Given the description of an element on the screen output the (x, y) to click on. 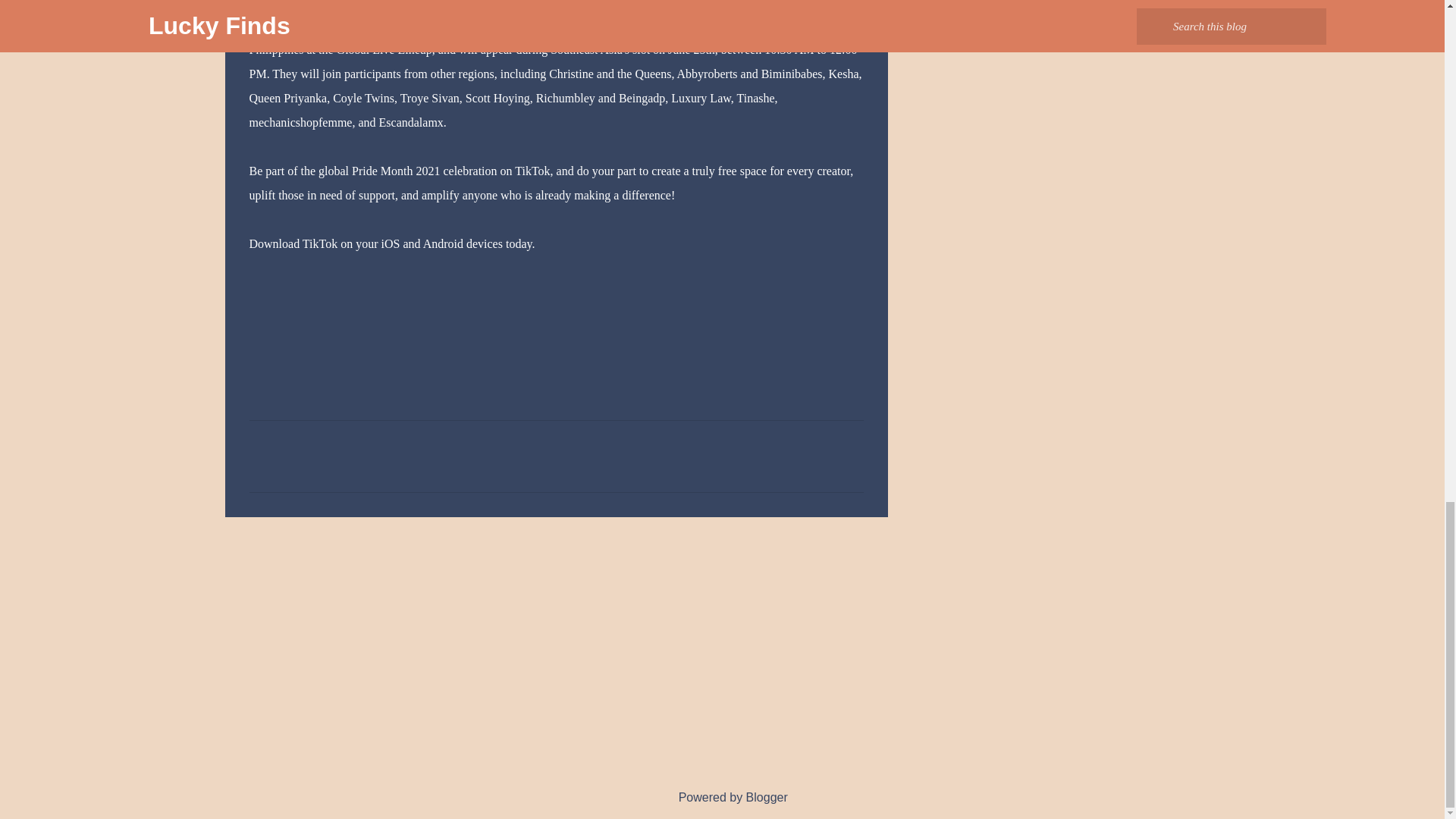
Powered by Blogger (721, 797)
